Given the description of an element on the screen output the (x, y) to click on. 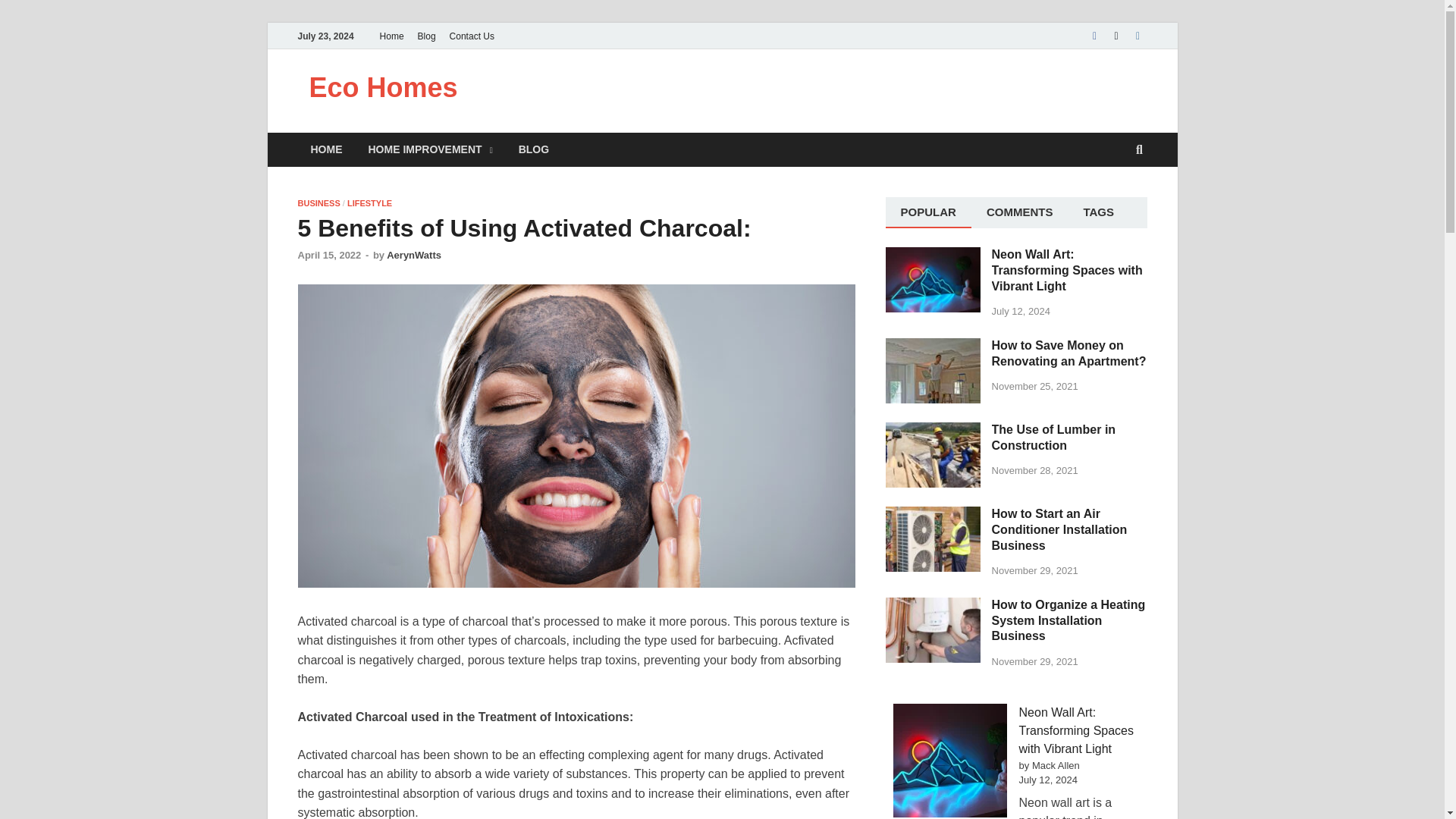
The Use of Lumber in Construction (932, 431)
How to Start an Air Conditioner Installation Business (932, 514)
Neon Wall Art: Transforming Spaces with Vibrant Light (932, 255)
Home (391, 35)
BLOG (533, 149)
Contact Us (471, 35)
Eco Homes (383, 87)
How to Save Money on Renovating an Apartment? (932, 346)
HOME IMPROVEMENT (430, 149)
HOME (326, 149)
How to Organize a Heating System Installation Business (932, 605)
Blog (426, 35)
